Given the description of an element on the screen output the (x, y) to click on. 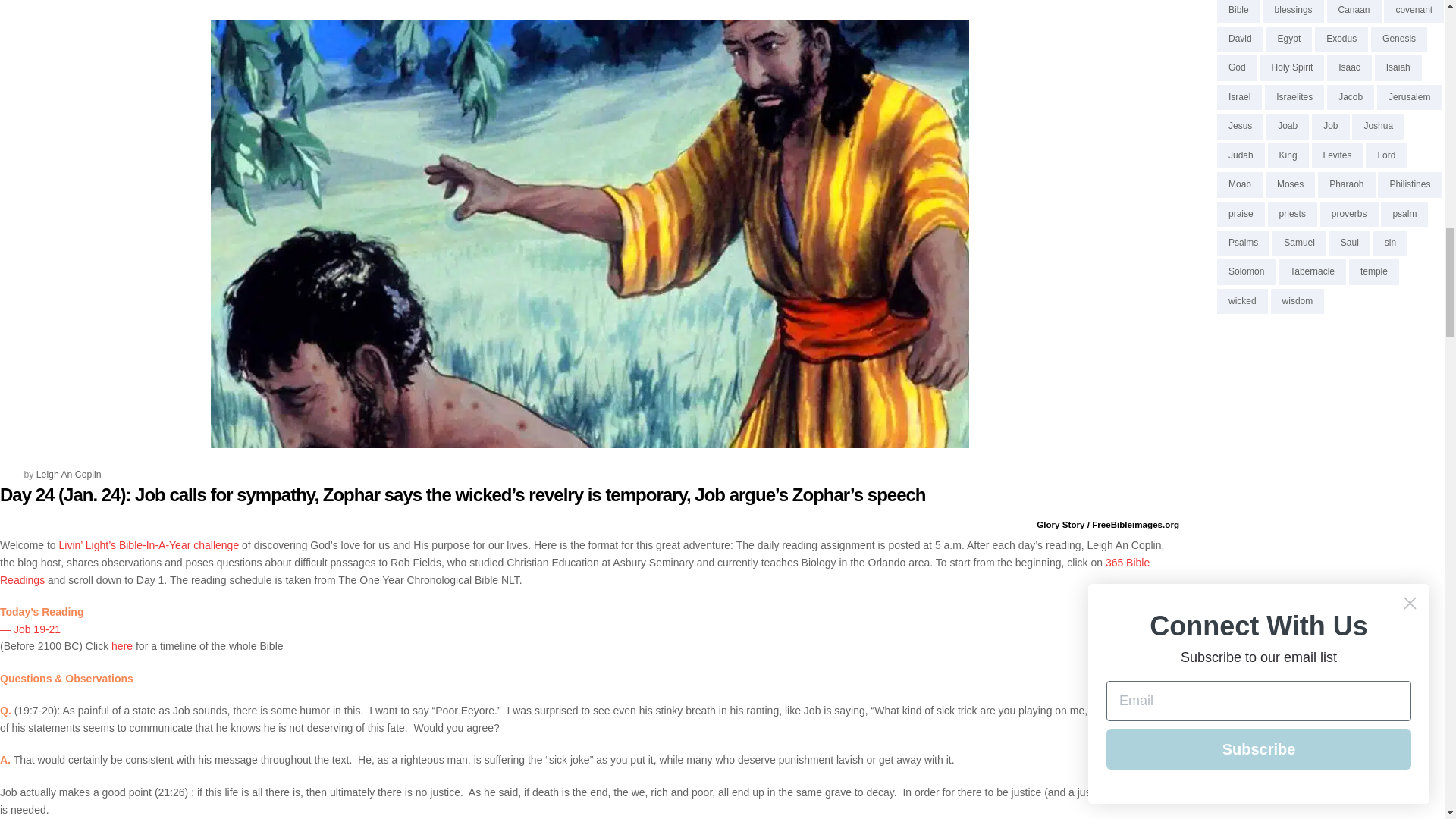
365 Bible Readings (575, 571)
Leigh An Coplin (68, 474)
here (122, 645)
